Given the description of an element on the screen output the (x, y) to click on. 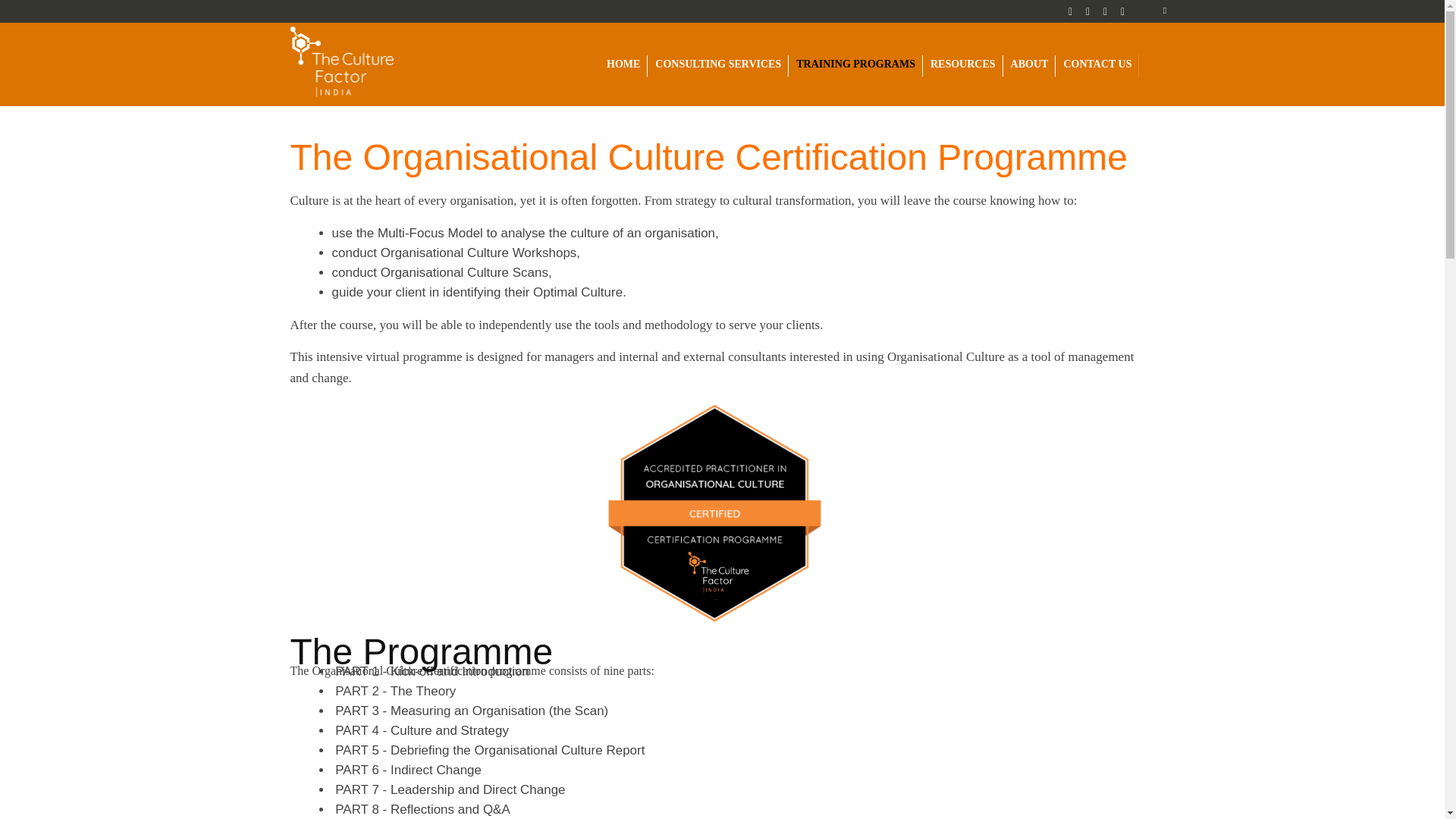
Register (323, 191)
CONSULTING SERVICES (717, 64)
TRAINING PROGRAMS (855, 64)
Hofstede Insights (341, 64)
Register Now (323, 191)
